Given the description of an element on the screen output the (x, y) to click on. 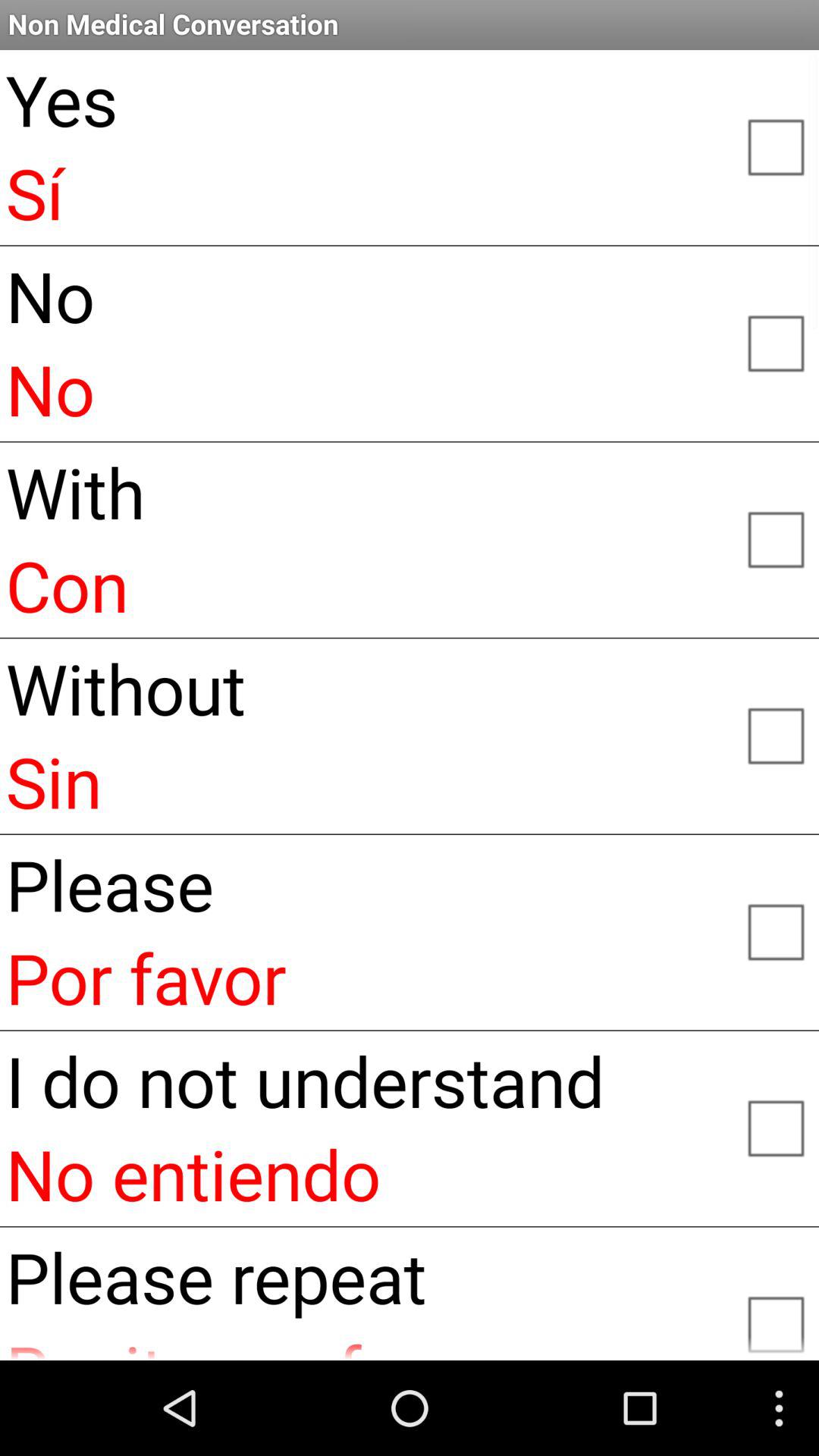
select the 'yes option (775, 145)
